Given the description of an element on the screen output the (x, y) to click on. 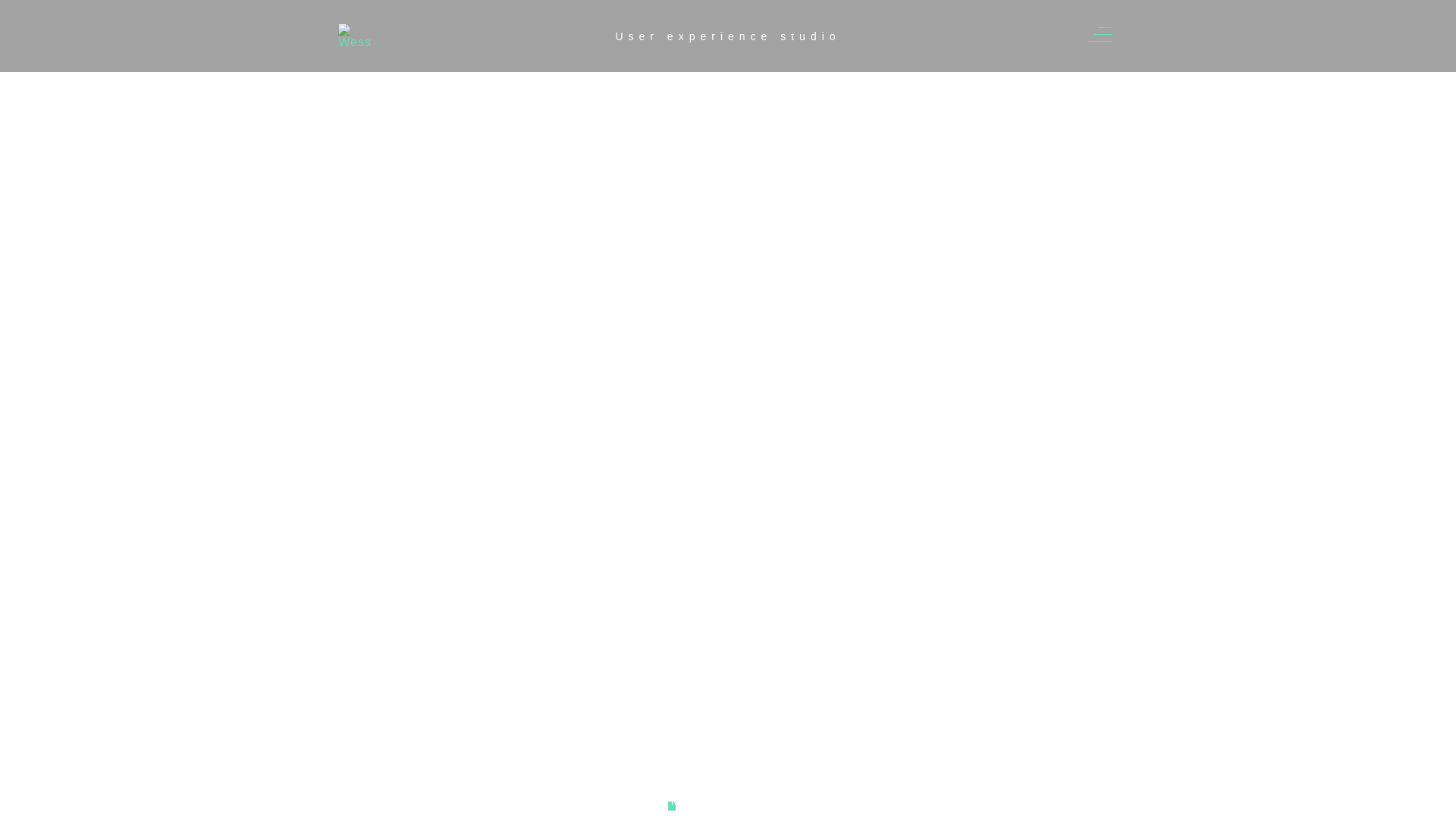
Accueil (417, 610)
